Given the description of an element on the screen output the (x, y) to click on. 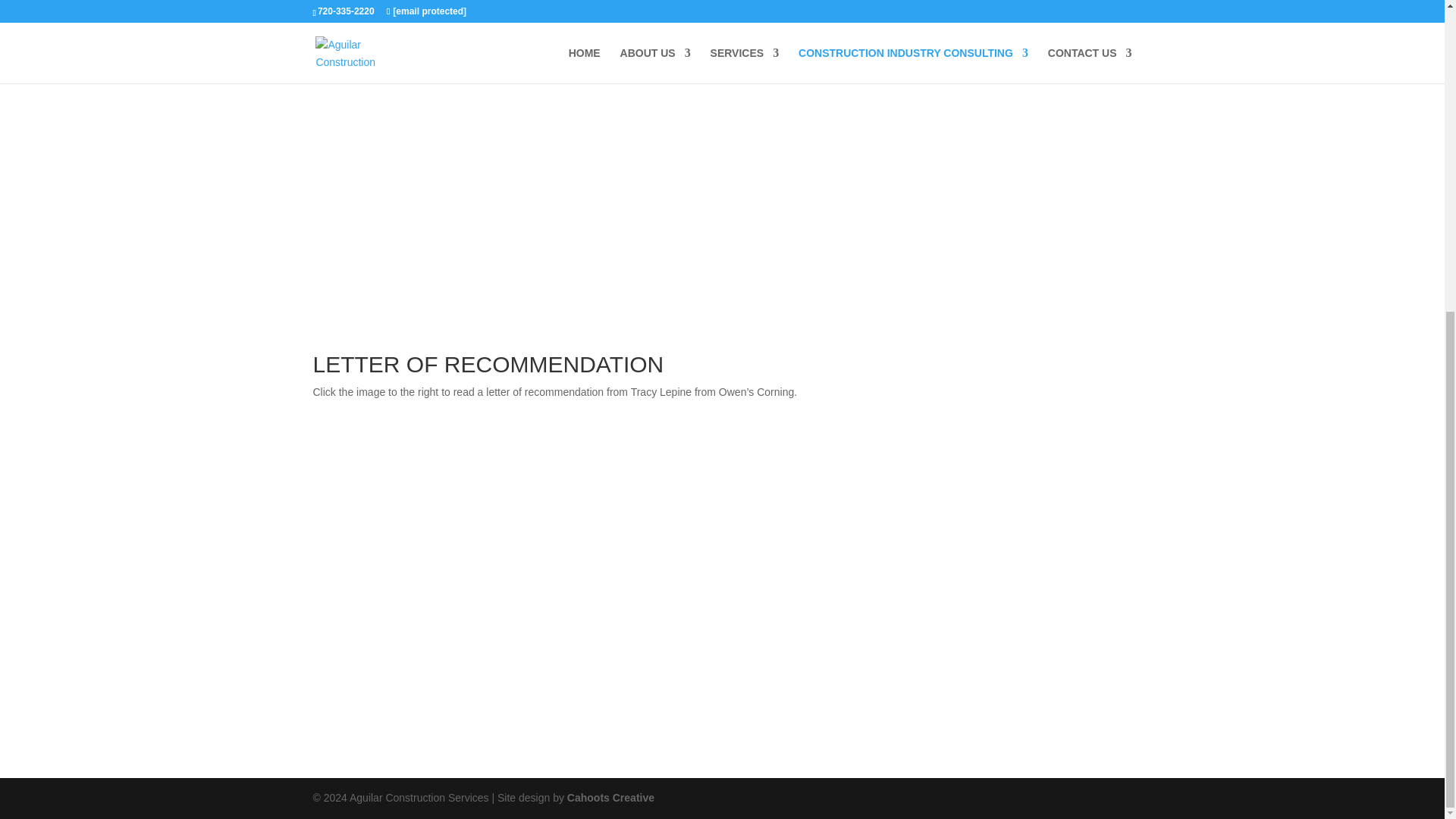
Cahoots Creative (610, 797)
